Given the description of an element on the screen output the (x, y) to click on. 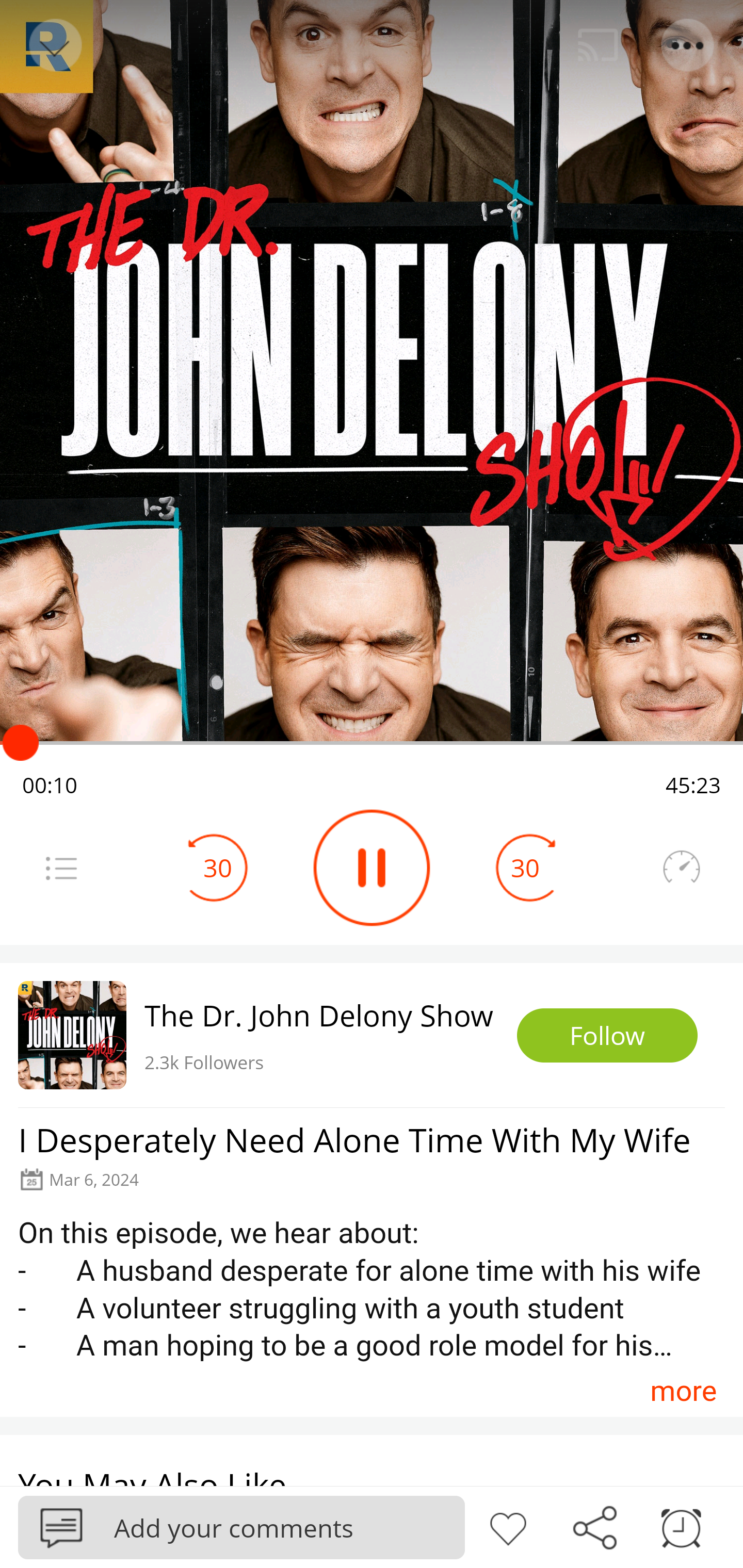
Back (53, 45)
Cast. Disconnected (597, 45)
Menu (688, 45)
Play (371, 867)
30 Seek Backward (217, 867)
30 Seek Forward (525, 867)
Menu (60, 867)
Speedometer (681, 867)
The Dr. John Delony Show 2.3k Followers Follow (371, 1034)
Follow (607, 1035)
more (682, 1390)
Like (508, 1526)
Share (594, 1526)
Sleep timer (681, 1526)
Podbean Add your comments (241, 1526)
